Given the description of an element on the screen output the (x, y) to click on. 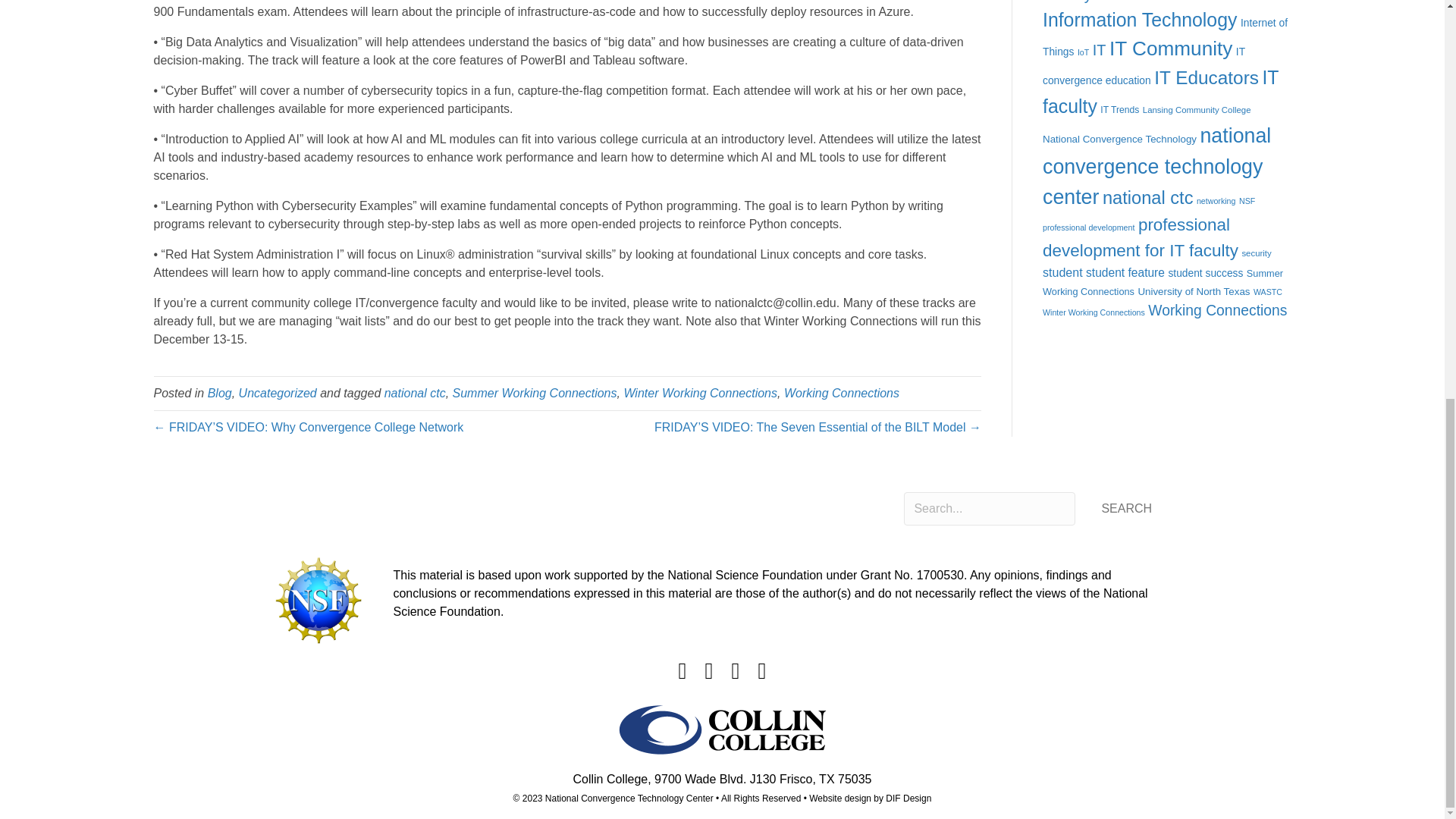
NSF 4 Color Logo with Shading - Print (318, 600)
Blog (219, 392)
